Given the description of an element on the screen output the (x, y) to click on. 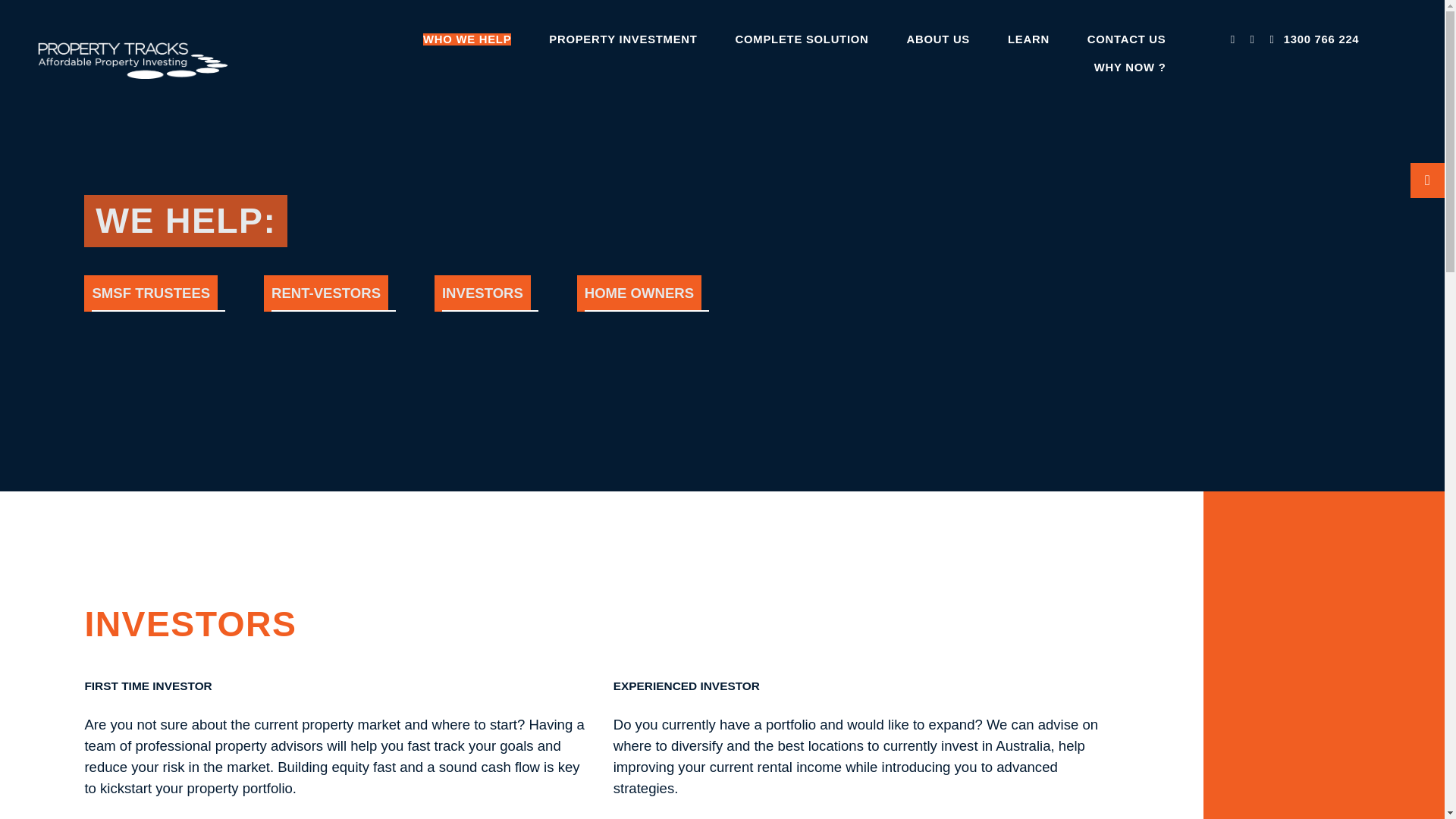
1300 766 224 (1310, 39)
WHY NOW ? (1130, 67)
SMSF TRUSTEES (150, 293)
CONTACT US (1126, 39)
INVESTORS (482, 293)
ABOUT US (938, 39)
COMPLETE SOLUTION (802, 39)
RENT-VESTORS (325, 293)
WHO WE HELP (467, 39)
PROPERTY INVESTMENT (622, 39)
LEARN (1028, 39)
HOME OWNERS (638, 293)
